Given the description of an element on the screen output the (x, y) to click on. 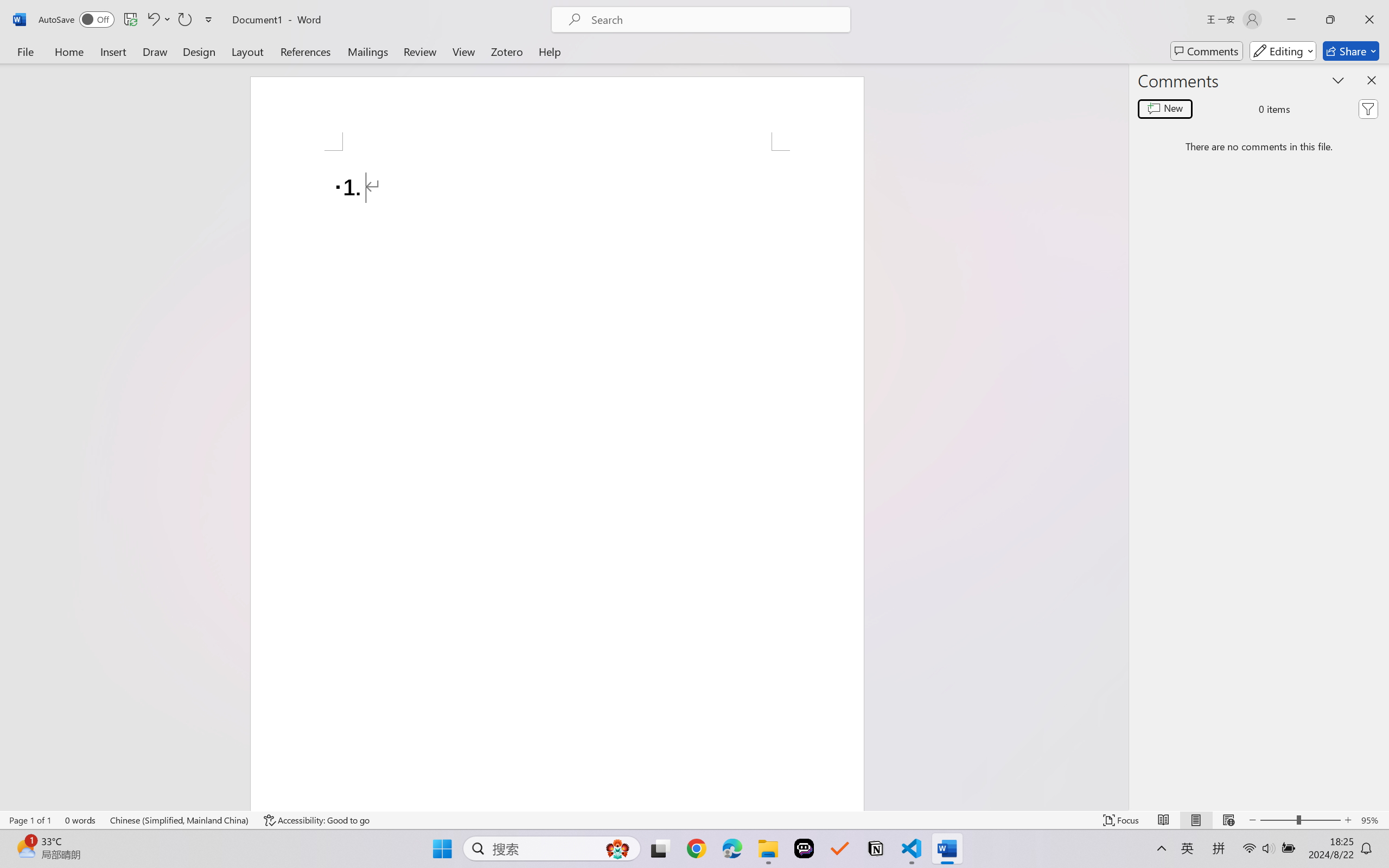
New comment (1165, 108)
